Given the description of an element on the screen output the (x, y) to click on. 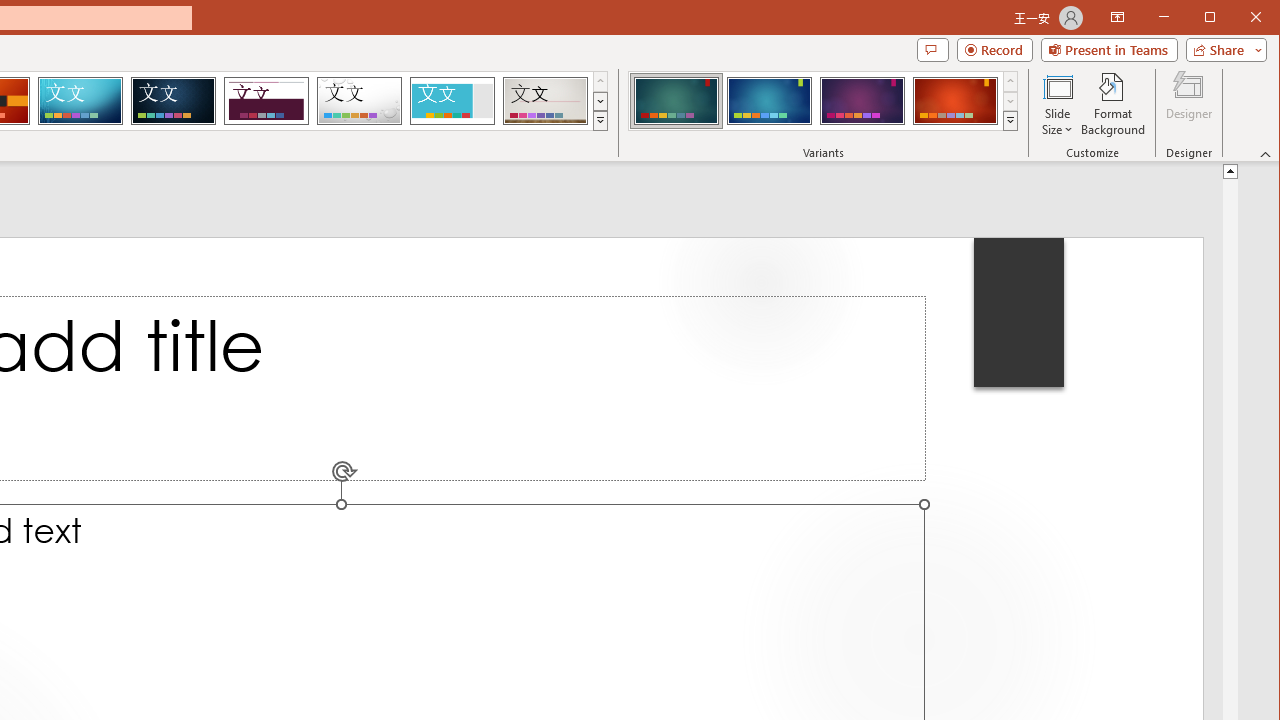
Format Background (1113, 104)
Variants (1010, 120)
AutomationID: ThemeVariantsGallery (824, 101)
Gallery (545, 100)
Ion Variant 1 (676, 100)
Maximize (1238, 18)
